Given the description of an element on the screen output the (x, y) to click on. 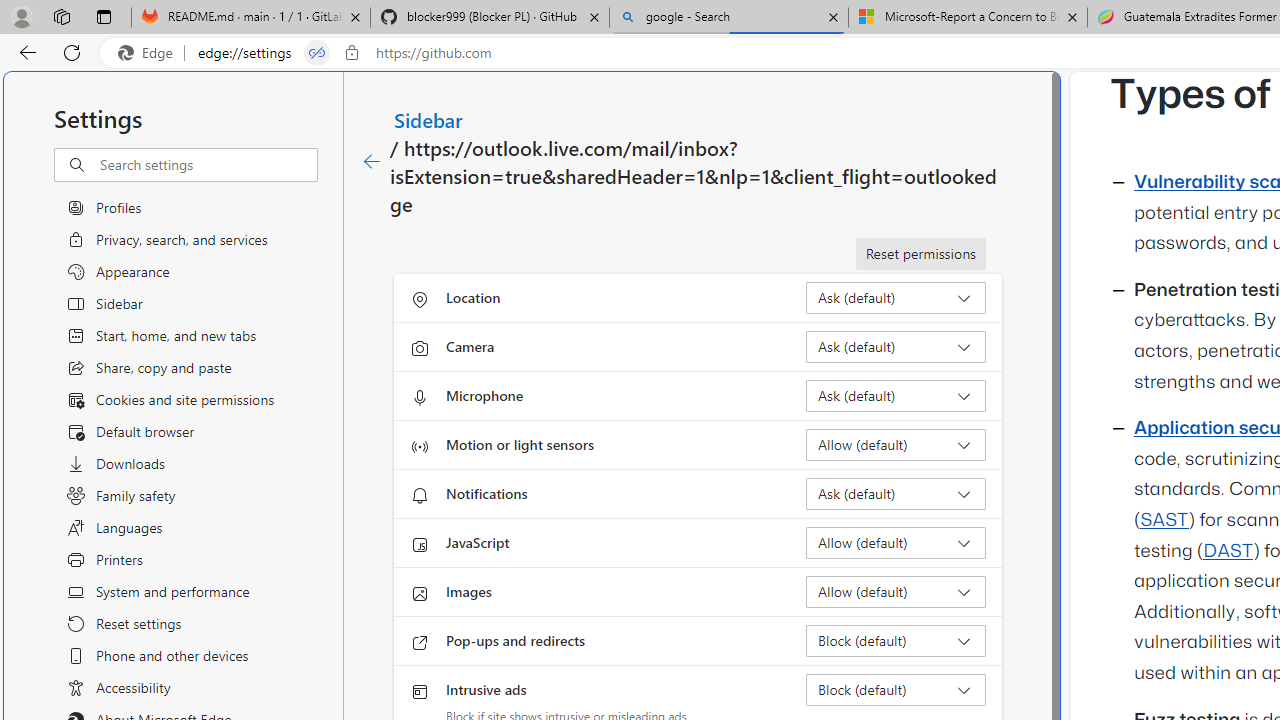
Sidebar (429, 119)
Tabs in split screen (317, 53)
Location Ask (default) (895, 297)
Notifications Ask (default) (895, 493)
Motion or light sensors Allow (default) (895, 444)
JavaScript Allow (default) (895, 542)
Intrusive ads Block (default) (895, 689)
Camera Ask (default) (895, 346)
